Given the description of an element on the screen output the (x, y) to click on. 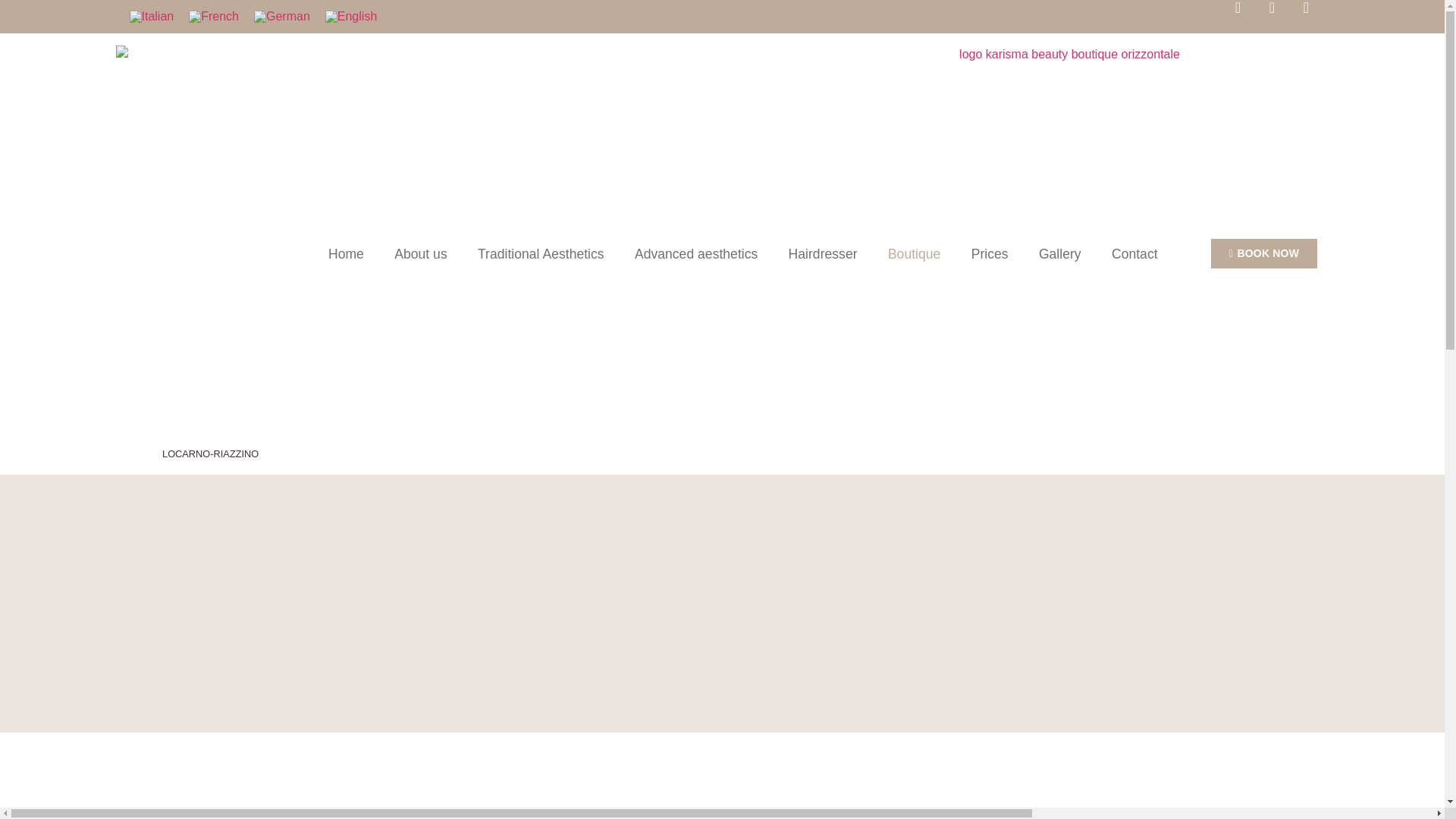
Gallery (1059, 253)
Boutique (914, 253)
Contact (1134, 253)
About us (420, 253)
Advanced aesthetics (696, 253)
Prices (989, 253)
Hairdresser (822, 253)
Traditional Aesthetics (541, 253)
Home (345, 253)
